Given the description of an element on the screen output the (x, y) to click on. 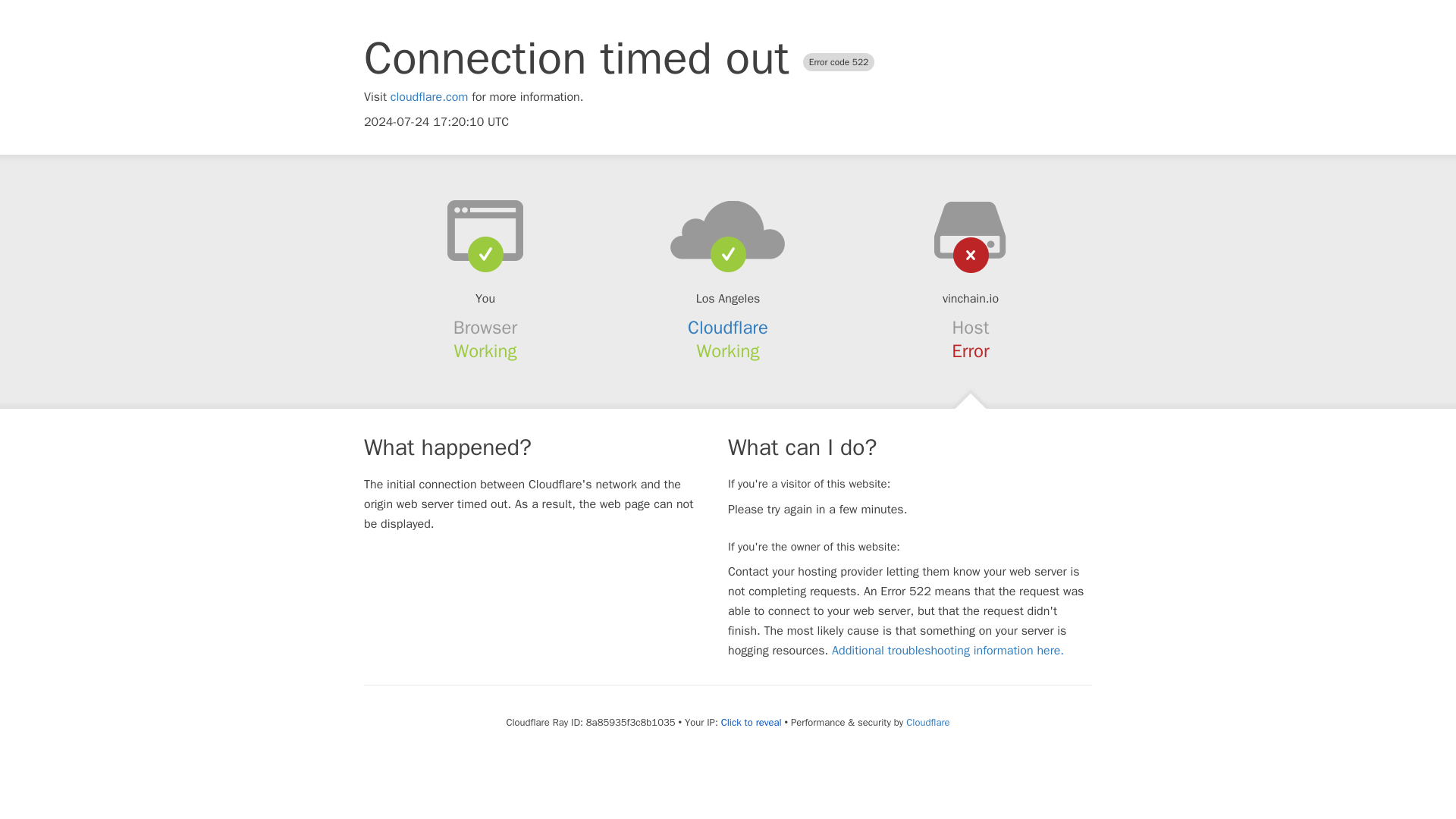
Cloudflare (727, 327)
Click to reveal (750, 722)
Cloudflare (927, 721)
Additional troubleshooting information here. (947, 650)
cloudflare.com (429, 96)
